Given the description of an element on the screen output the (x, y) to click on. 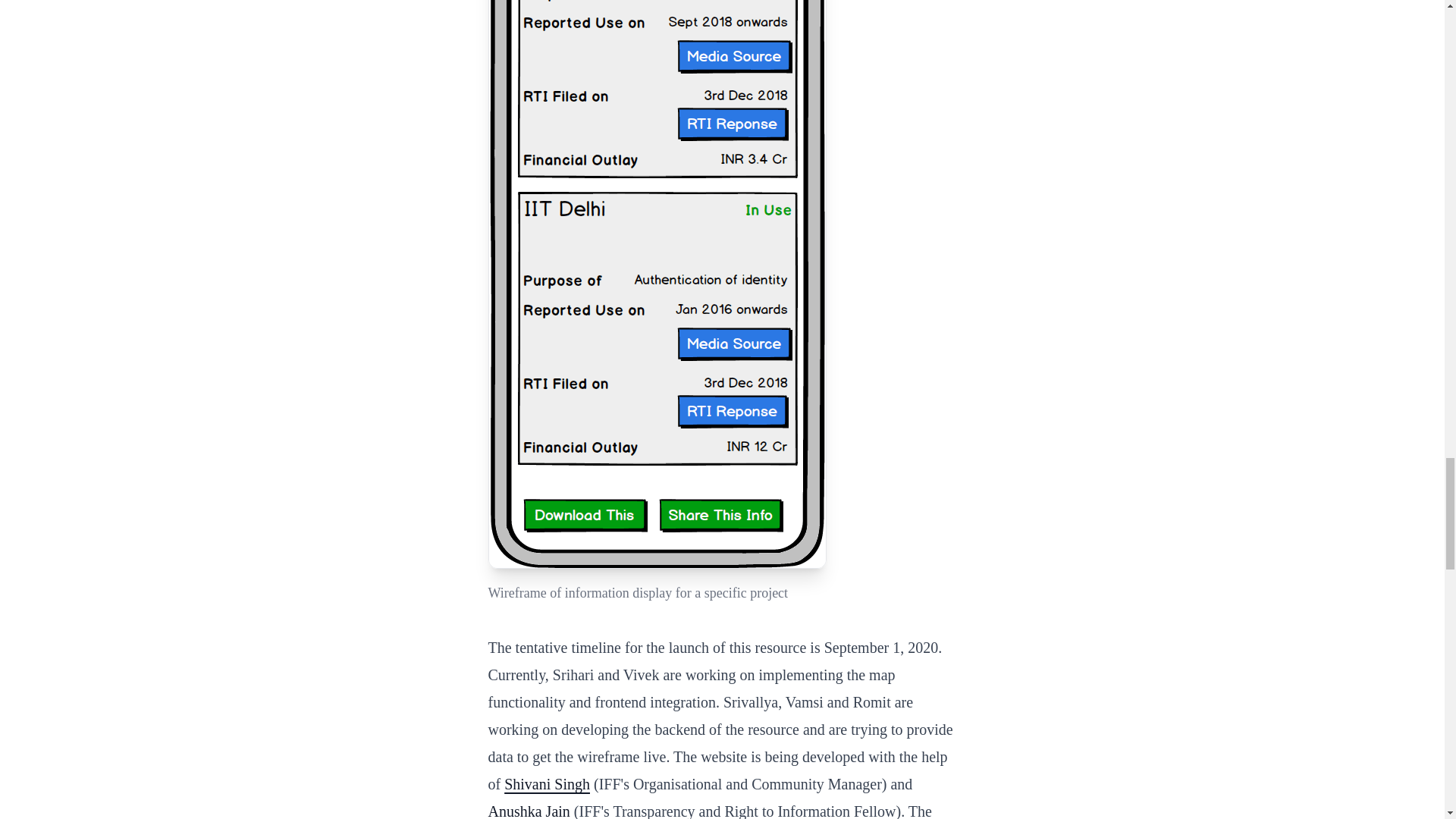
Anushka Jain (528, 811)
Shivani Singh (546, 783)
